Given the description of an element on the screen output the (x, y) to click on. 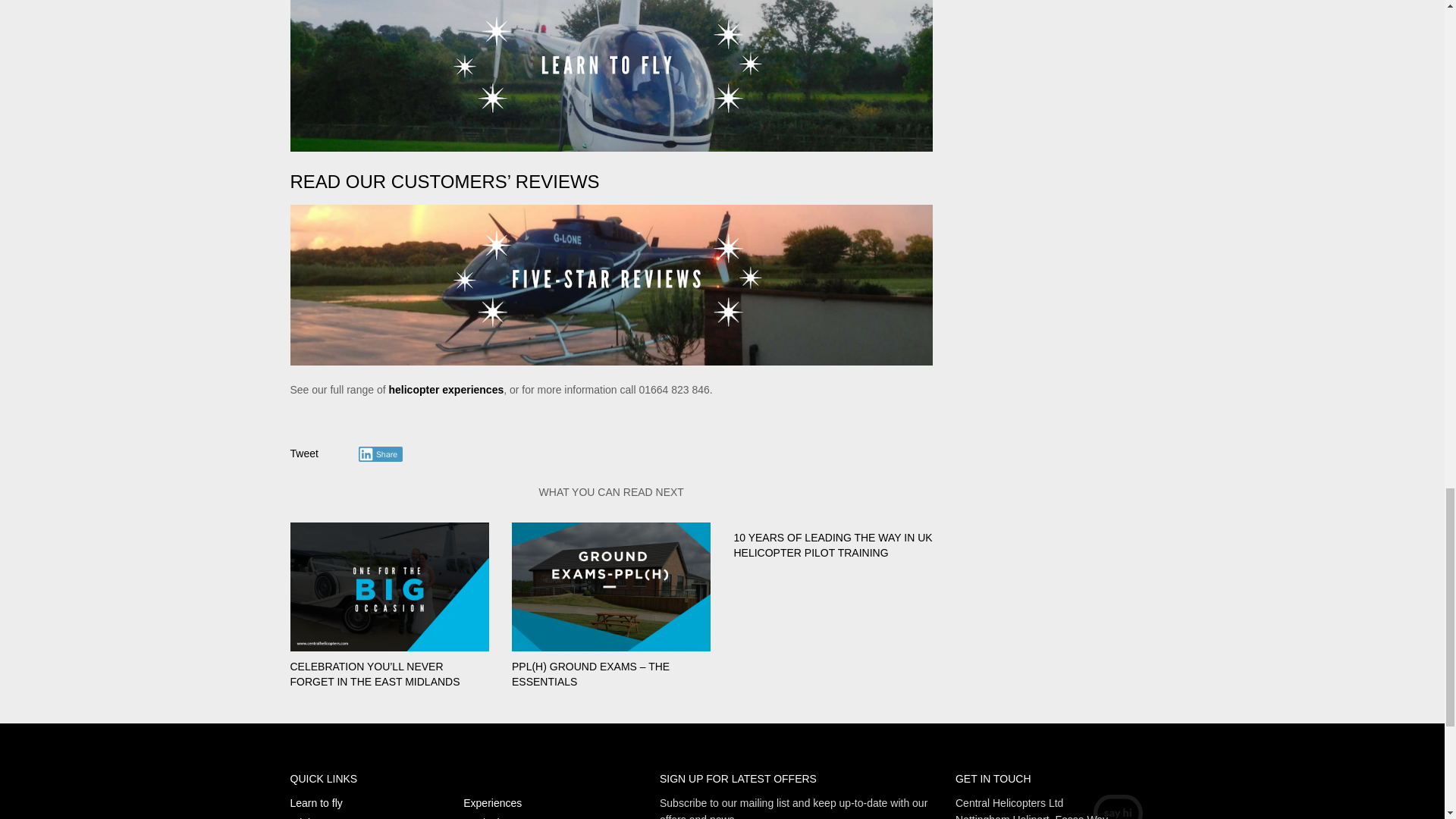
READ OUR CUSTOMERS' REVIEWS (443, 181)
